Given the description of an element on the screen output the (x, y) to click on. 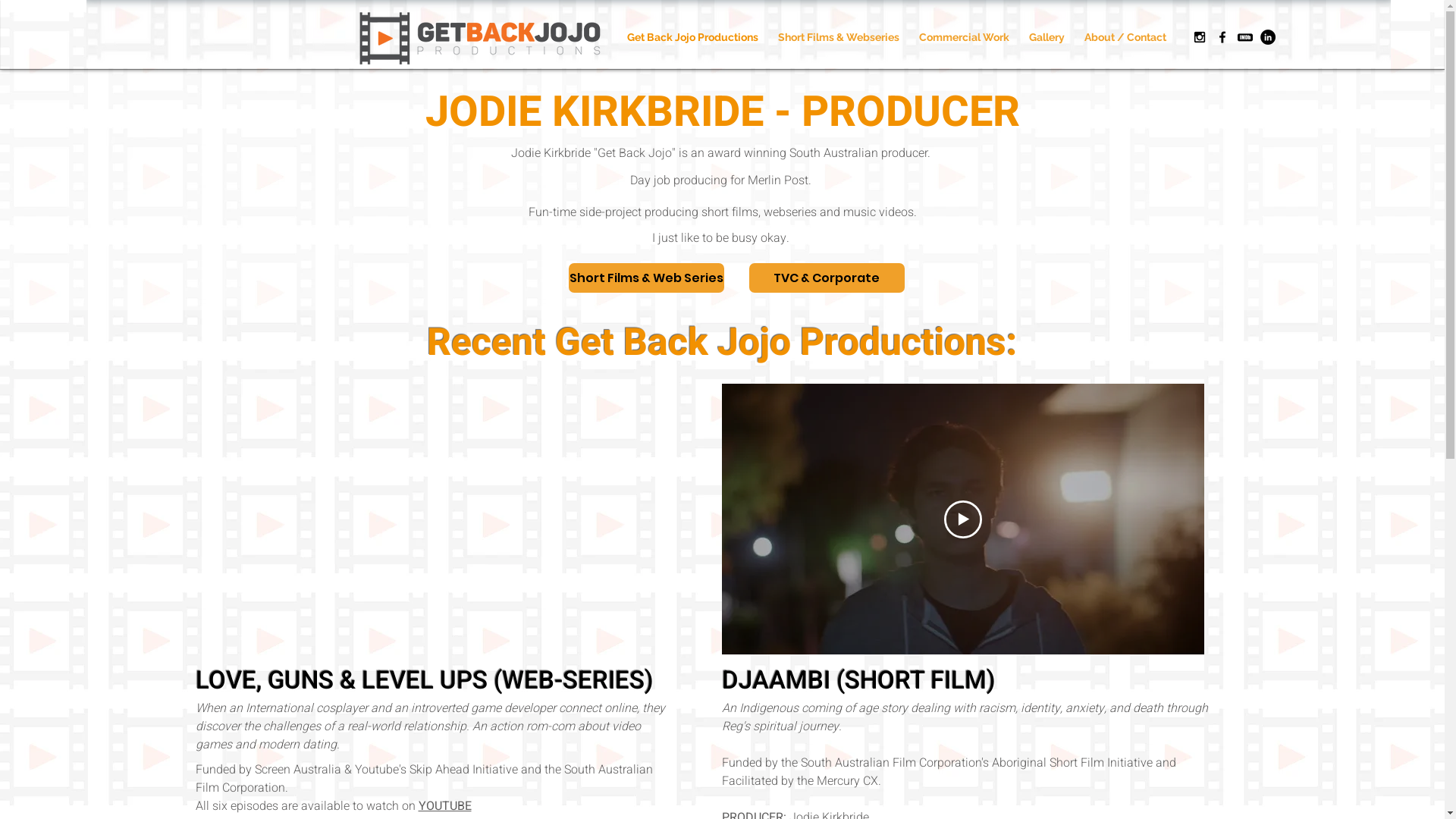
About / Contact Element type: text (1124, 36)
TVC & Corporate Element type: text (826, 277)
Short Films & Webseries Element type: text (837, 36)
Short Films & Web Series Element type: text (646, 277)
Get Back Jojo Productions Element type: text (692, 36)
Commercial Work Element type: text (963, 36)
Gallery Element type: text (1046, 36)
